Given the description of an element on the screen output the (x, y) to click on. 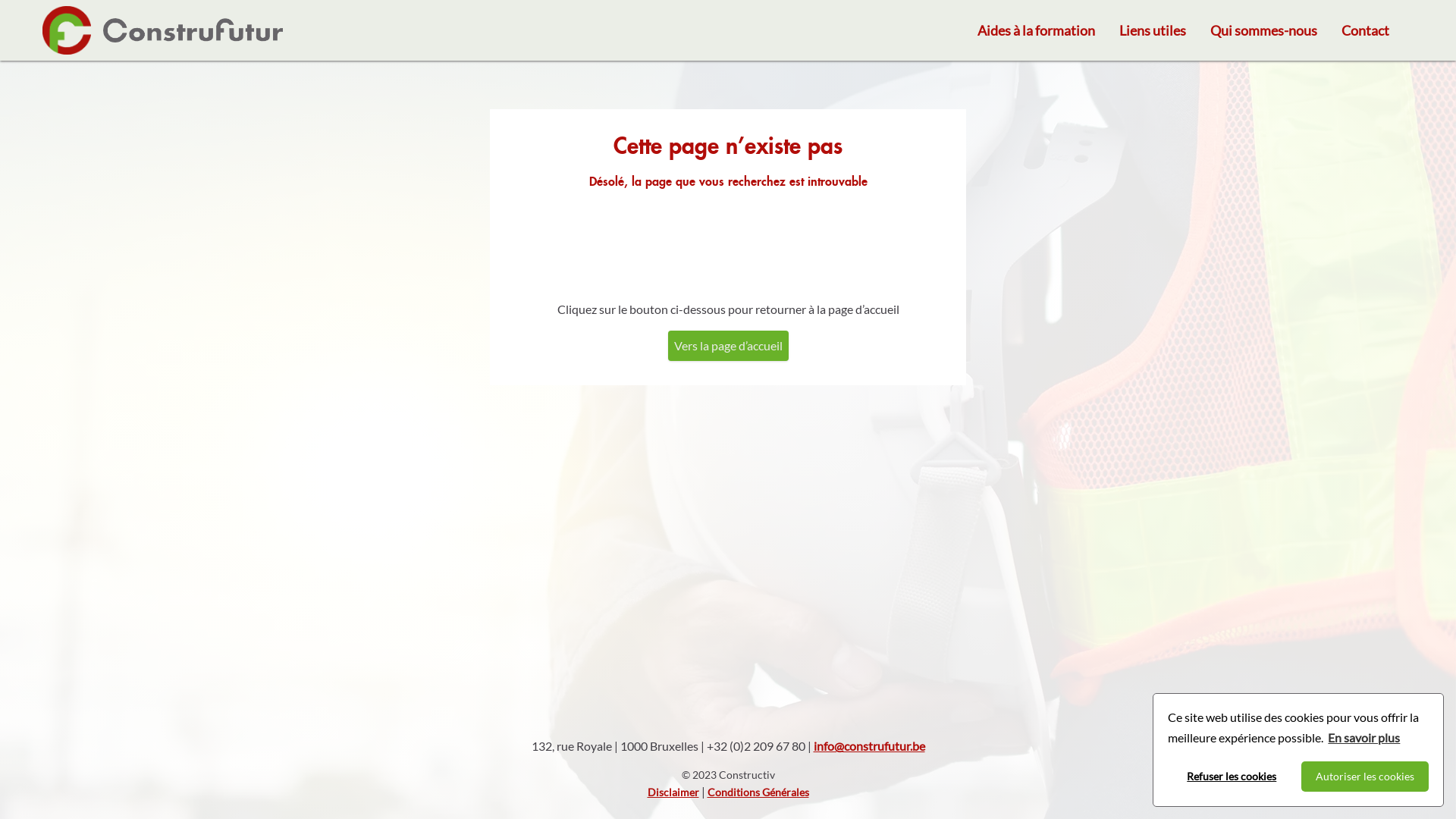
Autoriser les cookies Element type: text (1364, 776)
Disclaimer Element type: text (673, 791)
Liens utiles Element type: text (1152, 29)
En savoir plus Element type: text (1363, 737)
Refuser les cookies Element type: text (1231, 776)
info@construfutur.be Element type: text (868, 745)
Contact Element type: text (1365, 29)
Qui sommes-nous Element type: text (1263, 29)
